Given the description of an element on the screen output the (x, y) to click on. 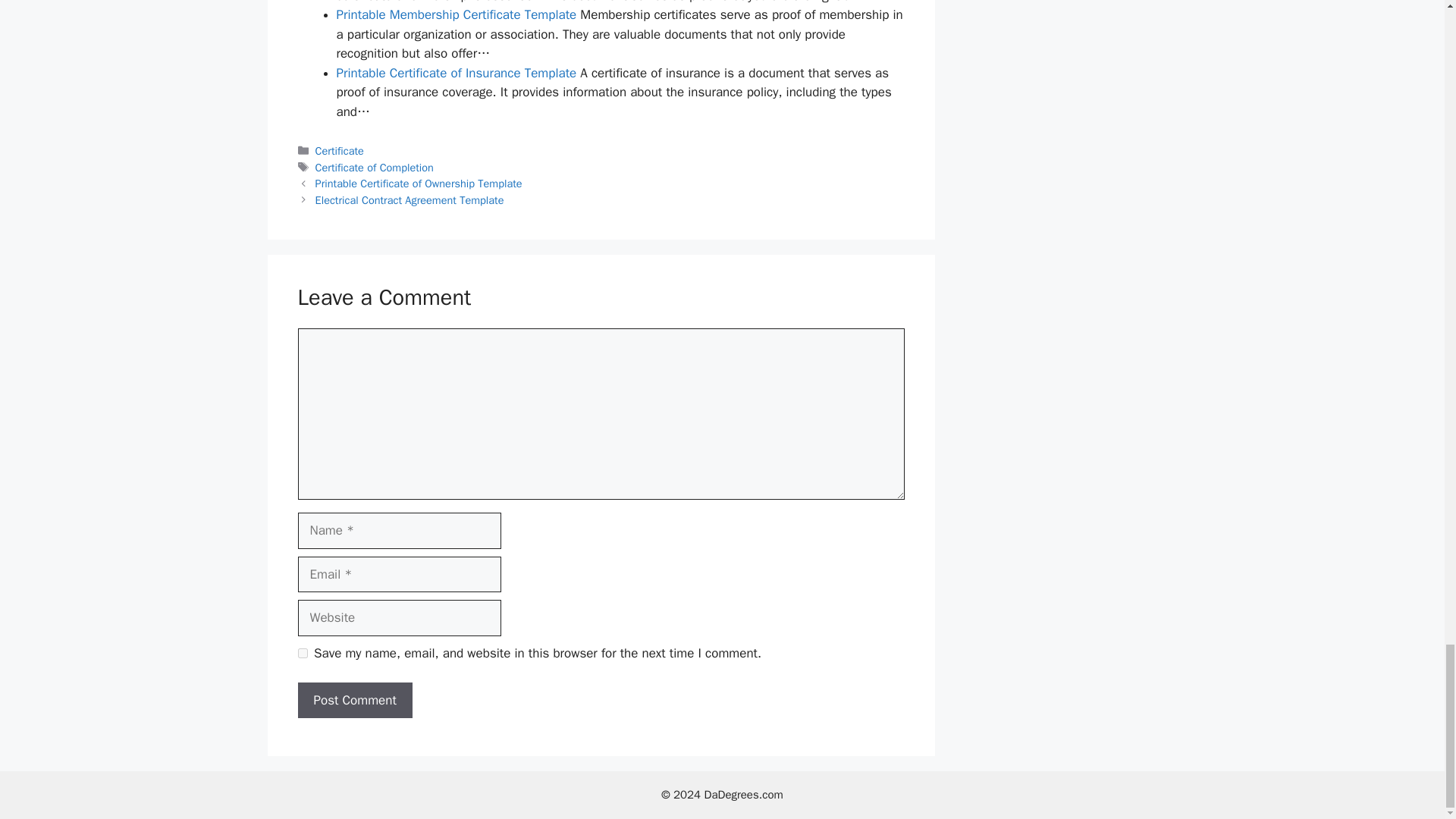
Post Comment (354, 700)
Certificate of Completion (374, 167)
Certificate (339, 151)
Printable Certificate of Insurance Template (456, 73)
Printable Membership Certificate Template (456, 14)
Printable Certificate of Ownership Template (418, 183)
Post Comment (354, 700)
yes (302, 653)
Electrical Contract Agreement Template (409, 200)
